Given the description of an element on the screen output the (x, y) to click on. 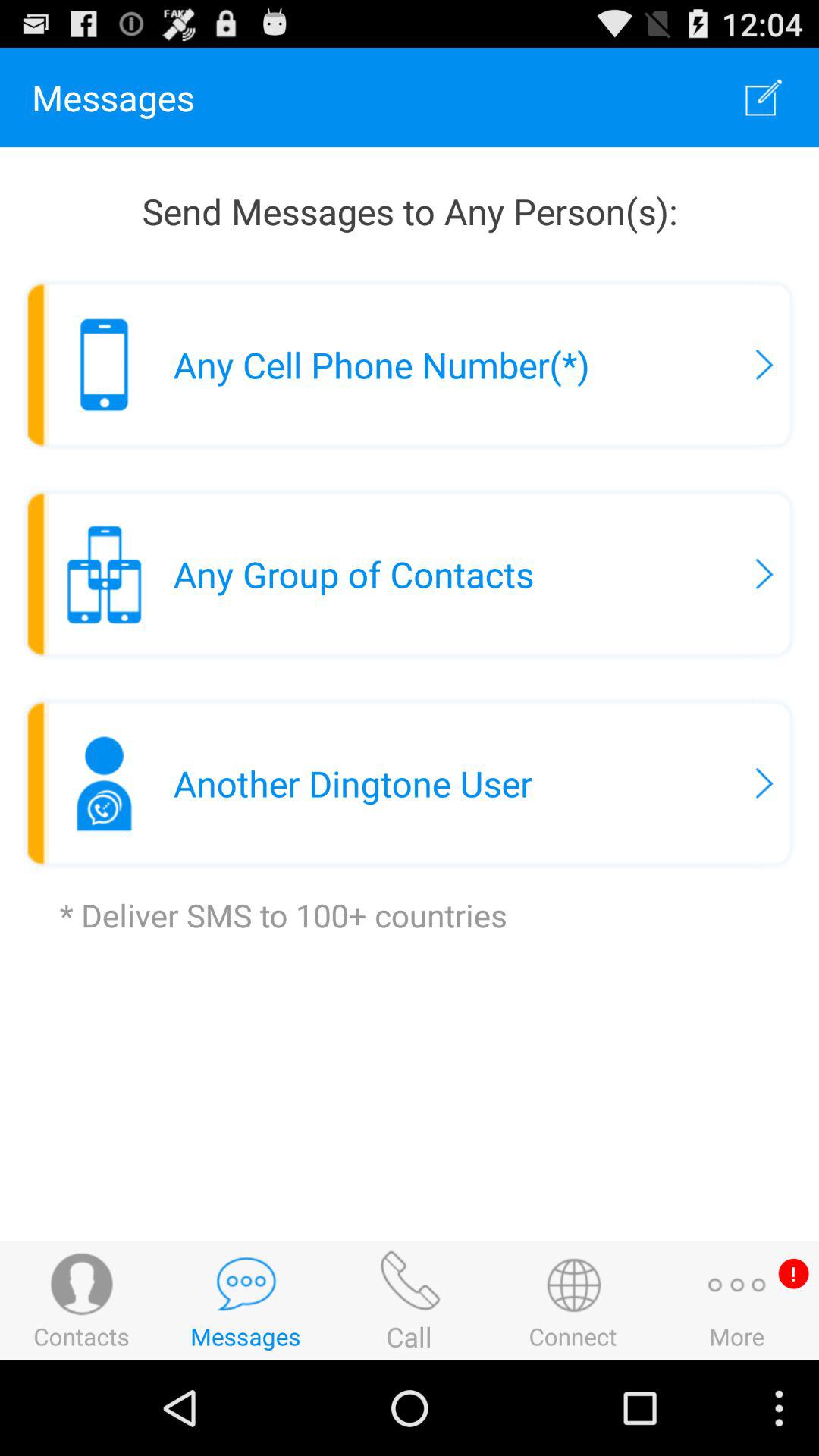
click the app next to the messages item (763, 97)
